Given the description of an element on the screen output the (x, y) to click on. 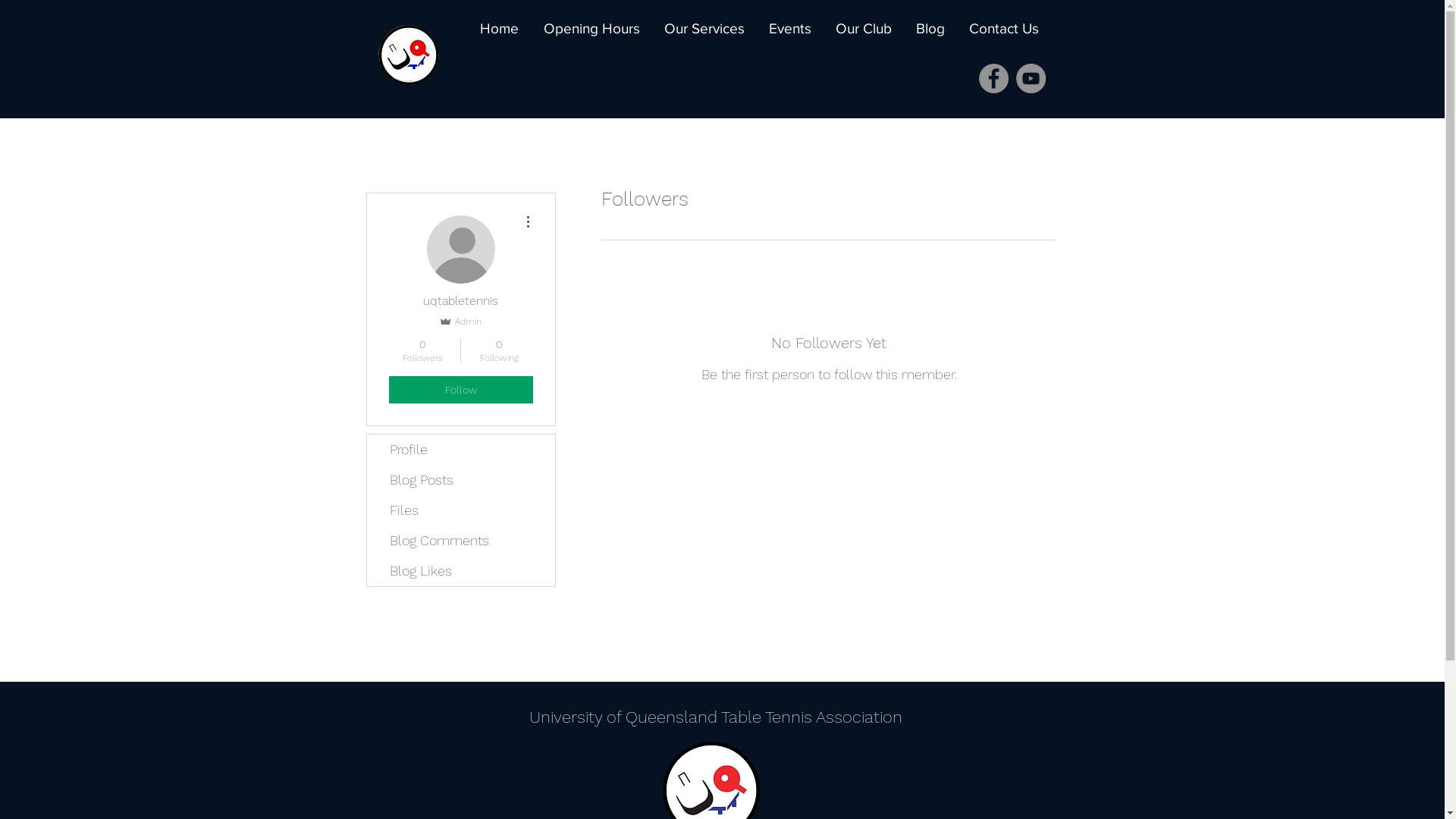
Blog Likes Element type: text (461, 570)
Blog Posts Element type: text (461, 479)
Our Club Element type: text (859, 28)
Contact Us Element type: text (999, 28)
Home Element type: text (494, 28)
Events Element type: text (785, 28)
Profile Element type: text (461, 449)
Follow Element type: text (460, 389)
Blog Comments Element type: text (461, 540)
Opening Hours Element type: text (586, 28)
University of Queensland Table Tennis Association Element type: text (715, 716)
0
Followers Element type: text (421, 350)
0
Following Element type: text (499, 350)
Blog Element type: text (925, 28)
Followers Element type: hover (827, 422)
Our Services Element type: text (699, 28)
Files Element type: text (461, 510)
